Given the description of an element on the screen output the (x, y) to click on. 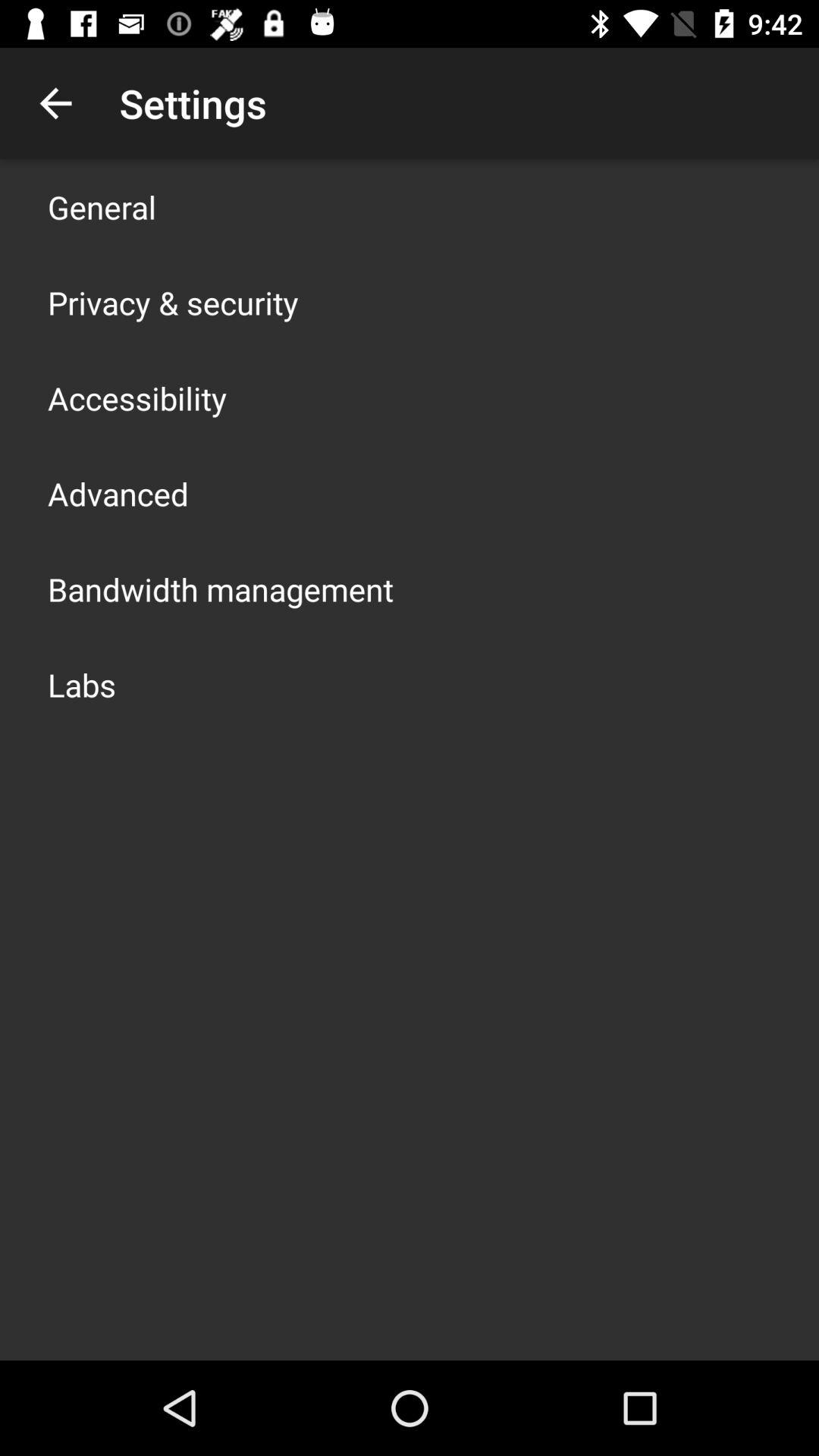
swipe until the labs item (81, 684)
